Given the description of an element on the screen output the (x, y) to click on. 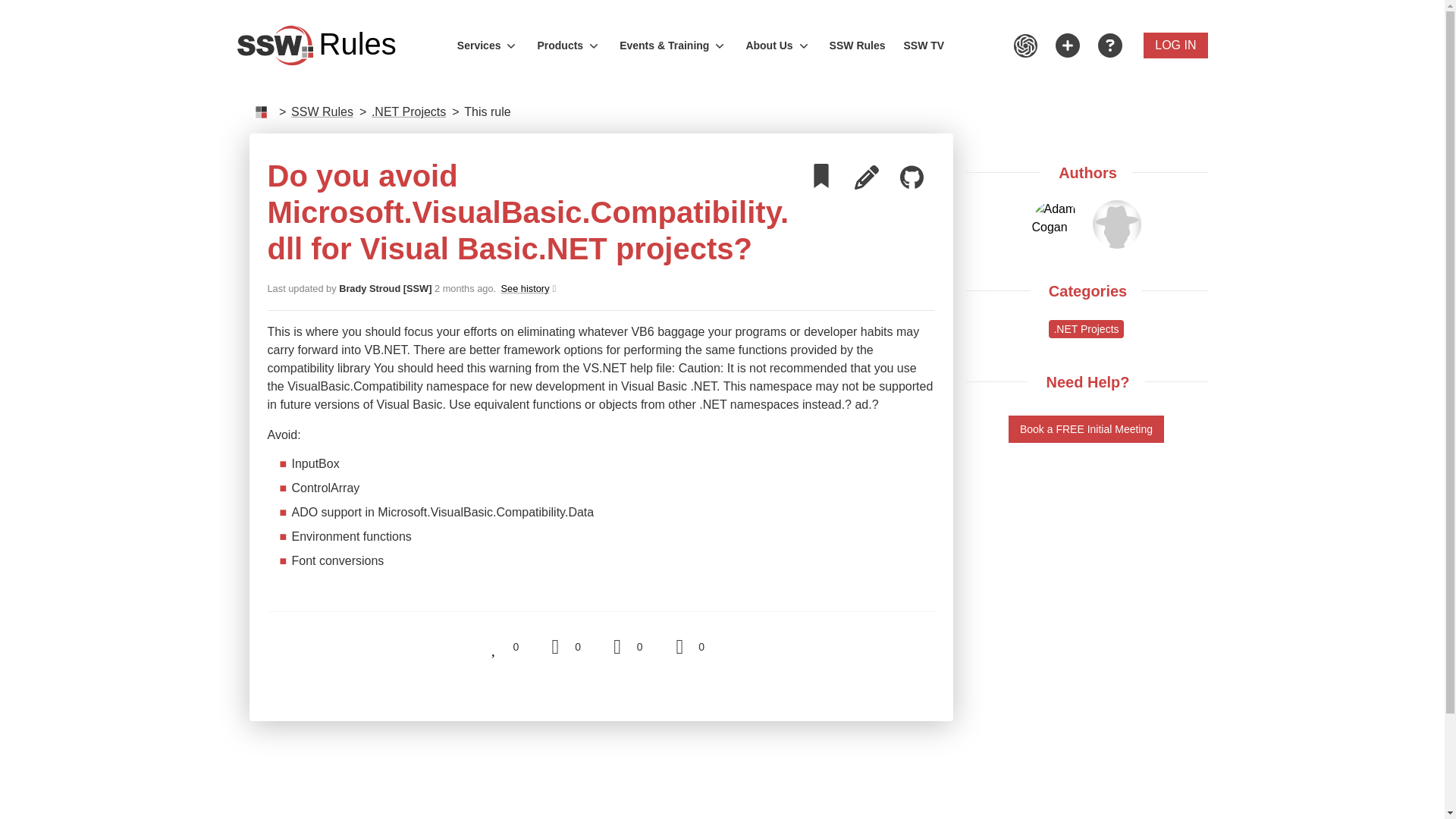
.NET Projects (408, 111)
See history (526, 288)
SSW Rules (322, 112)
Adam Cogan (568, 45)
LOG IN (1055, 217)
